Given the description of an element on the screen output the (x, y) to click on. 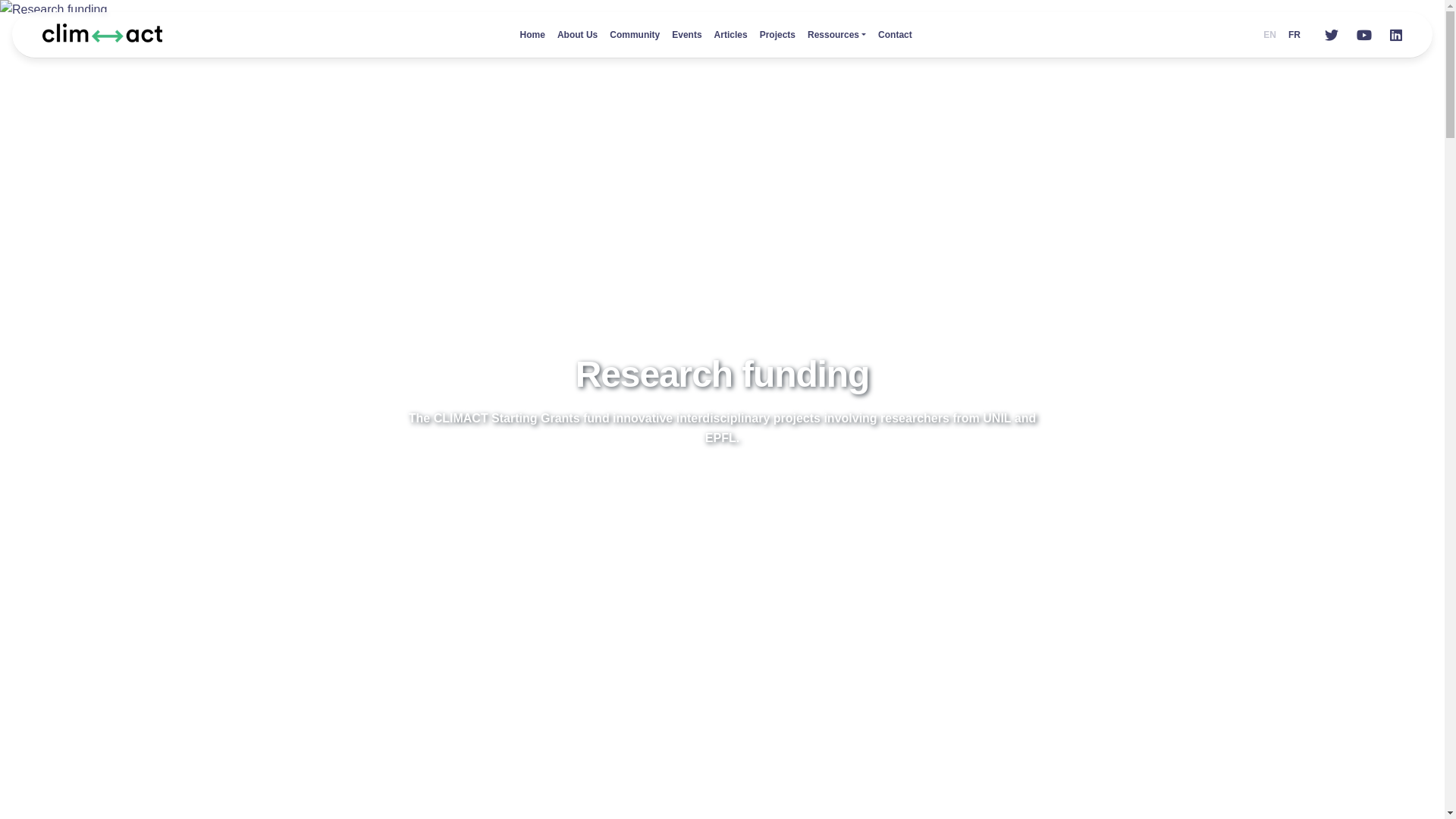
Contact Element type: text (895, 35)
FR Element type: text (1294, 35)
Ressources Element type: text (836, 35)
Articles Element type: text (730, 35)
Events Element type: text (686, 35)
Community Element type: text (634, 35)
Home Element type: text (532, 35)
EN Element type: text (1269, 35)
Projects Element type: text (777, 35)
About Us Element type: text (577, 35)
